Given the description of an element on the screen output the (x, y) to click on. 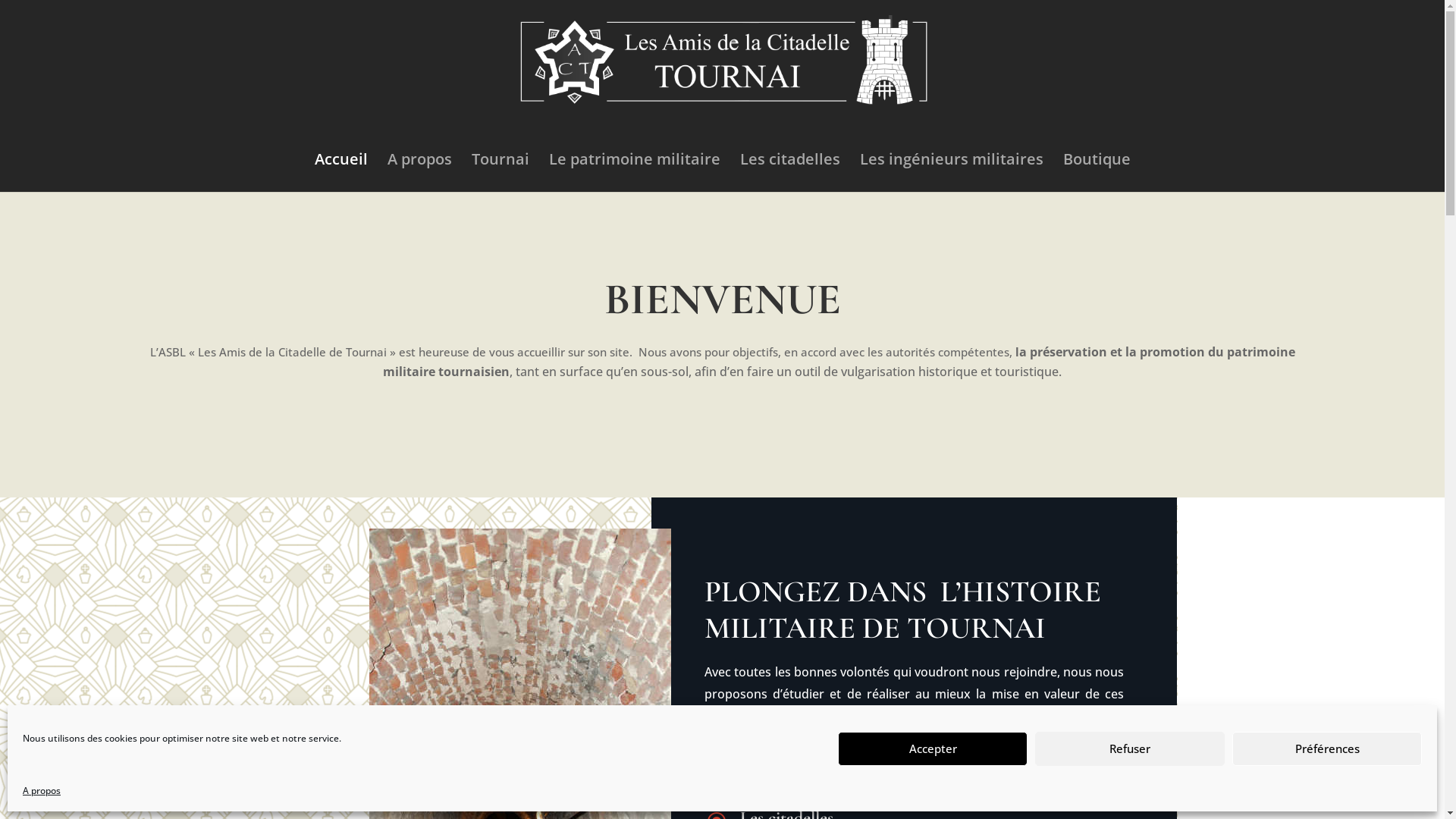
Accueil Element type: text (340, 172)
A propos Element type: text (418, 172)
Tournai Element type: text (500, 172)
Refuser Element type: text (1129, 748)
A propos Element type: text (41, 790)
\ Element type: text (716, 775)
Les citadelles Element type: text (790, 172)
Boutique Element type: text (1096, 172)
Accepter Element type: text (932, 748)
Le patrimoine militaire Element type: text (634, 172)
